Given the description of an element on the screen output the (x, y) to click on. 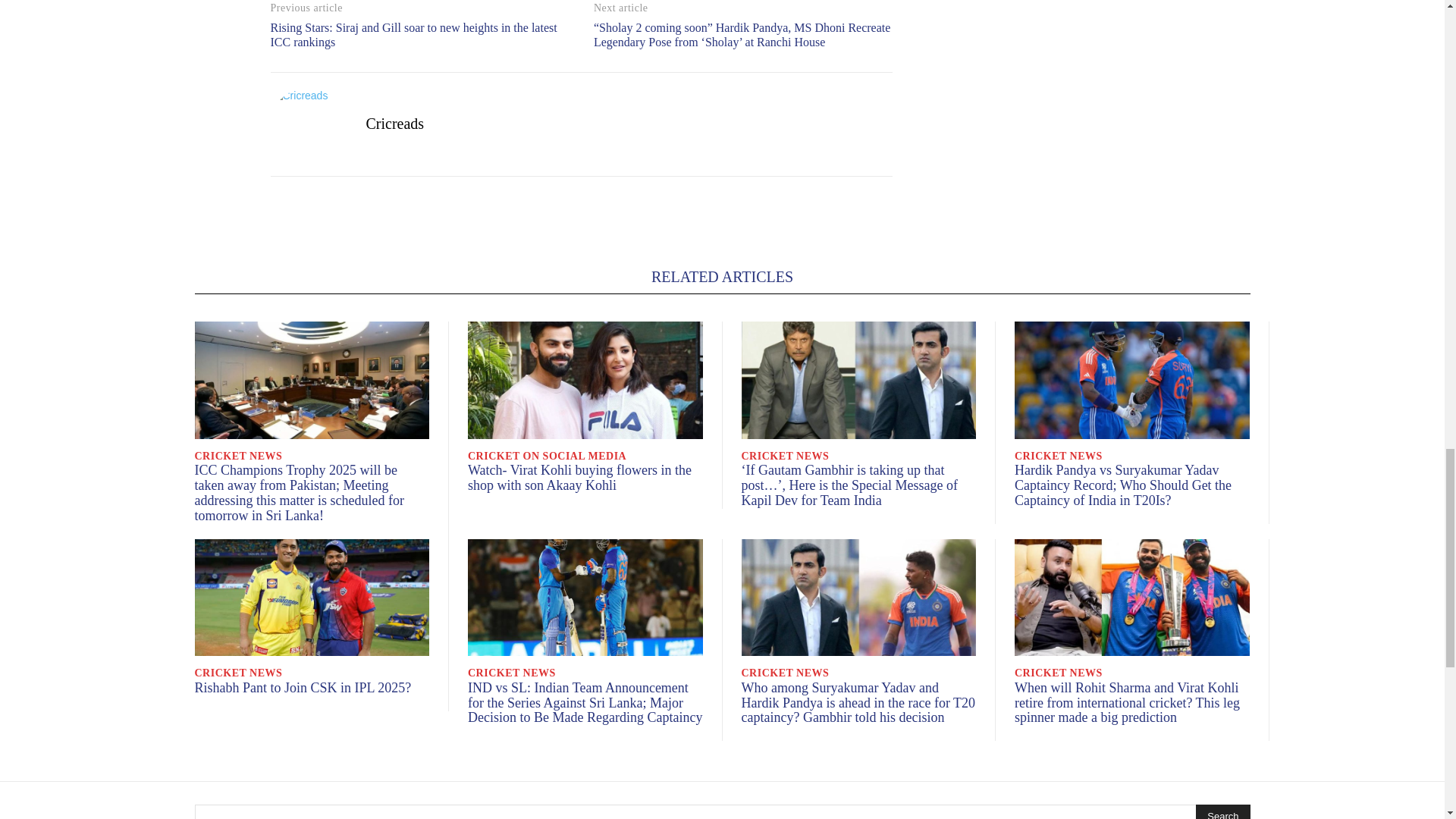
Cricreads (305, 123)
